Given the description of an element on the screen output the (x, y) to click on. 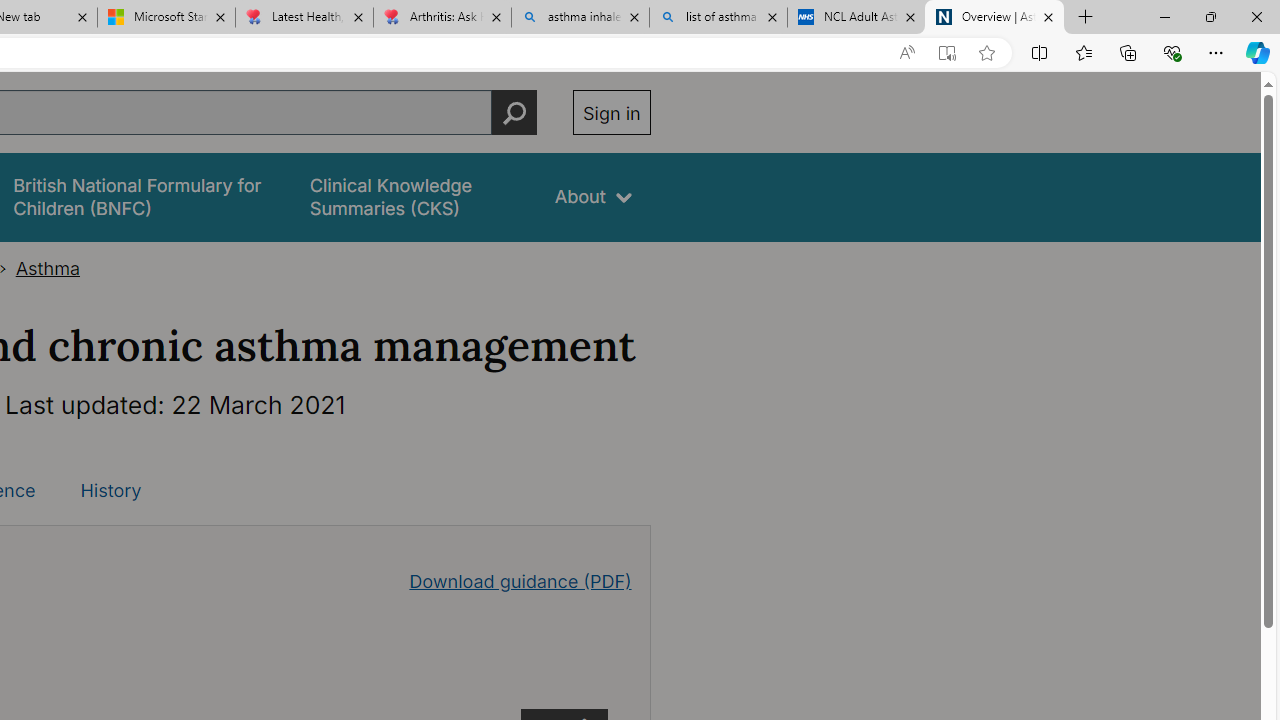
History (110, 490)
Perform search (514, 112)
Download guidance (PDF) (520, 580)
